Given the description of an element on the screen output the (x, y) to click on. 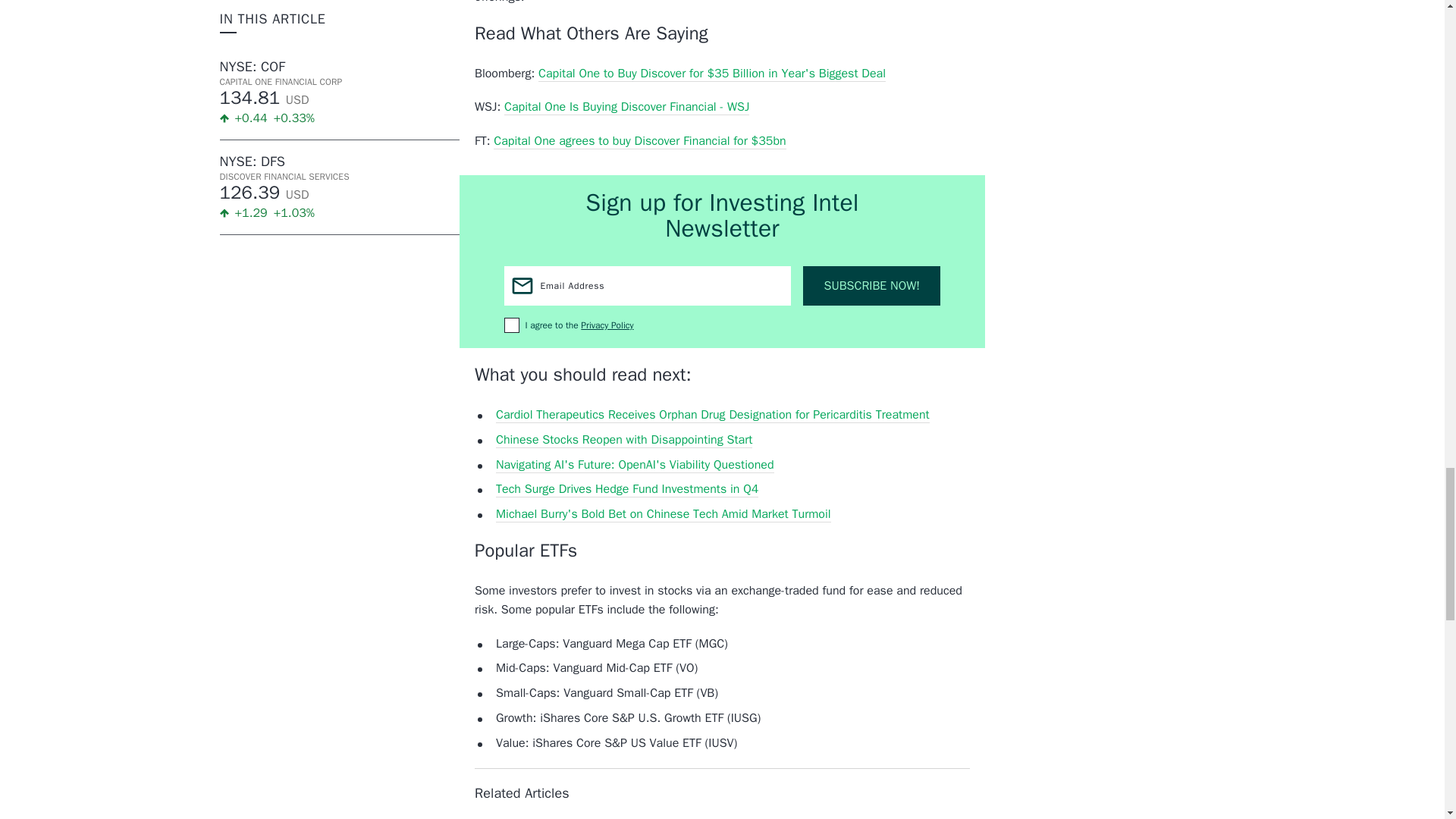
OpenAI Future (635, 465)
Yes (510, 324)
Cardiol (713, 415)
Michael Burry's Bold Bet on Chinese Tech Amid Market Turmoil (663, 514)
Chinese Stocks Reopen with Disappointing Start (624, 439)
Capital One Is Buying Discover Financial - WSJ (626, 107)
